Given the description of an element on the screen output the (x, y) to click on. 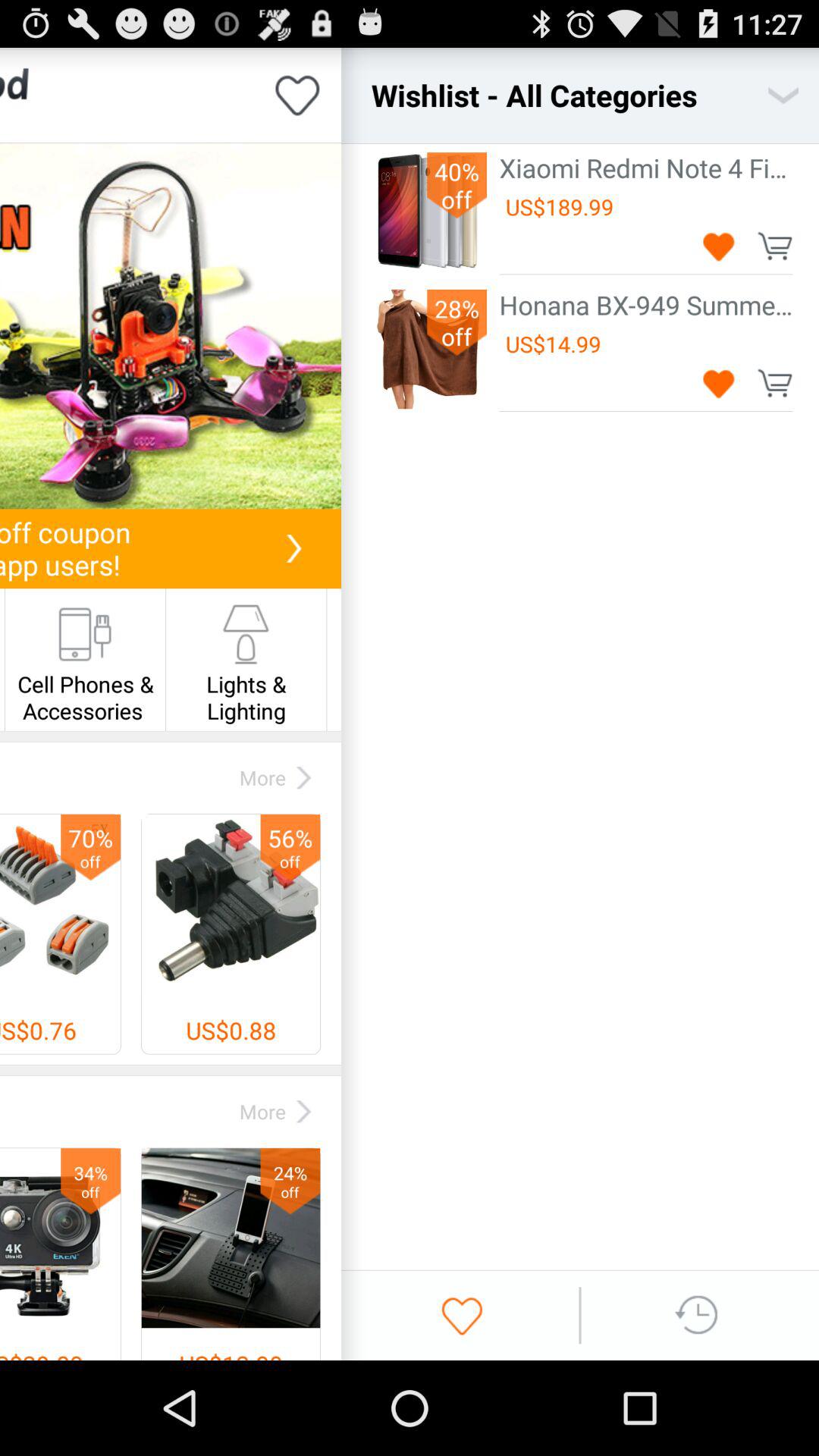
add to cart (774, 245)
